Given the description of an element on the screen output the (x, y) to click on. 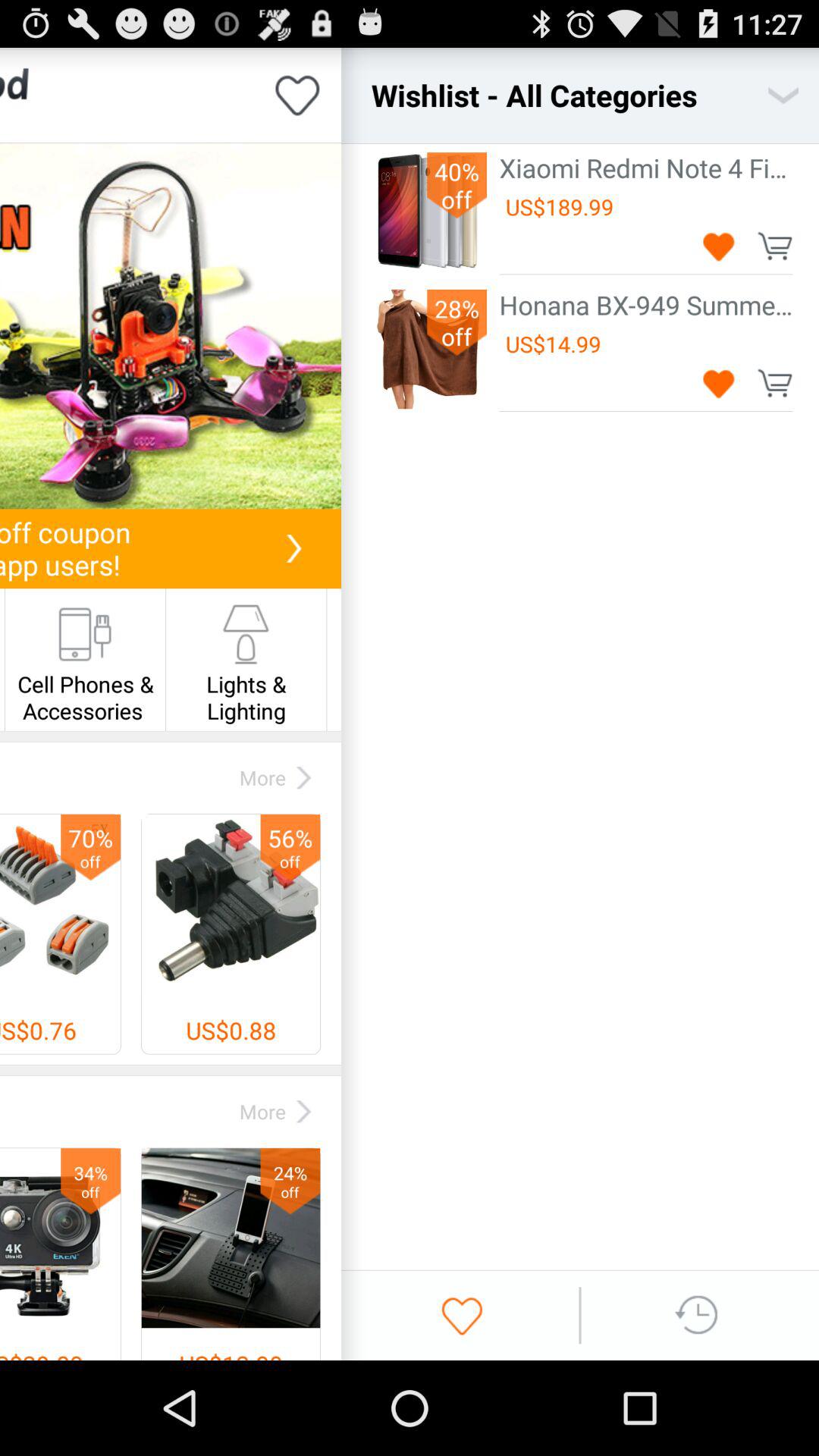
add to cart (774, 245)
